Given the description of an element on the screen output the (x, y) to click on. 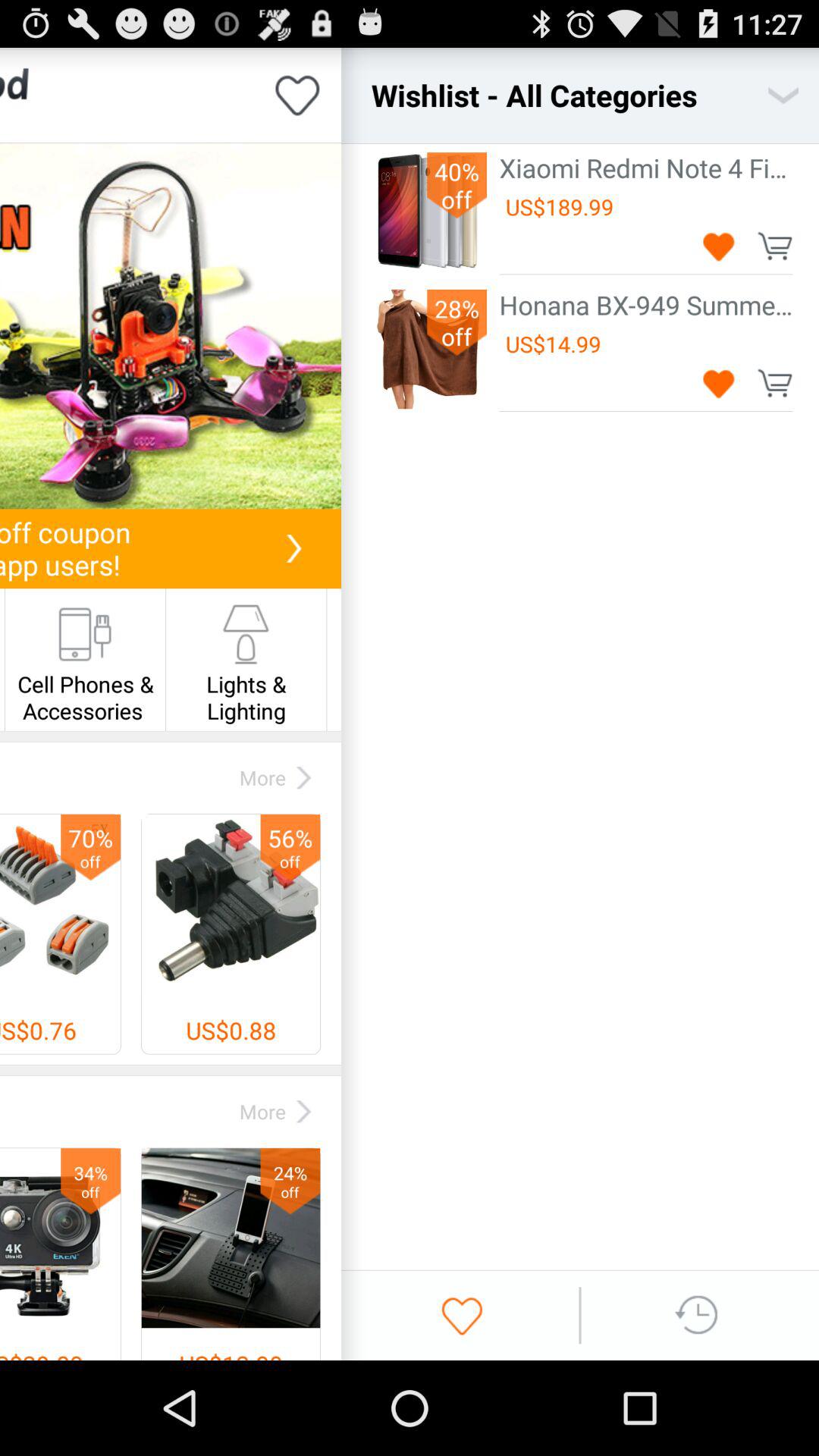
add to cart (774, 245)
